Given the description of an element on the screen output the (x, y) to click on. 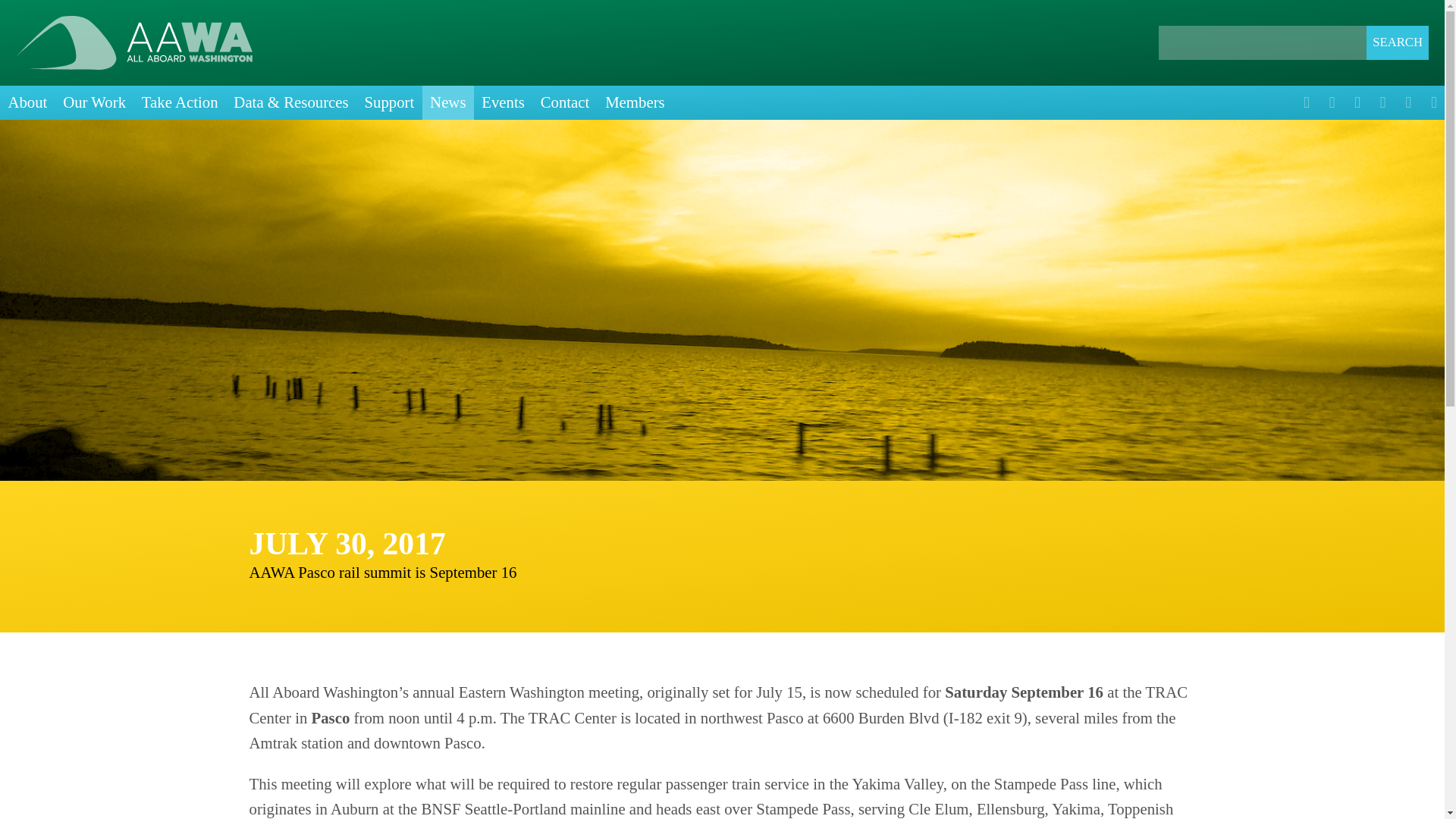
All Aboard Washington (133, 42)
